Given the description of an element on the screen output the (x, y) to click on. 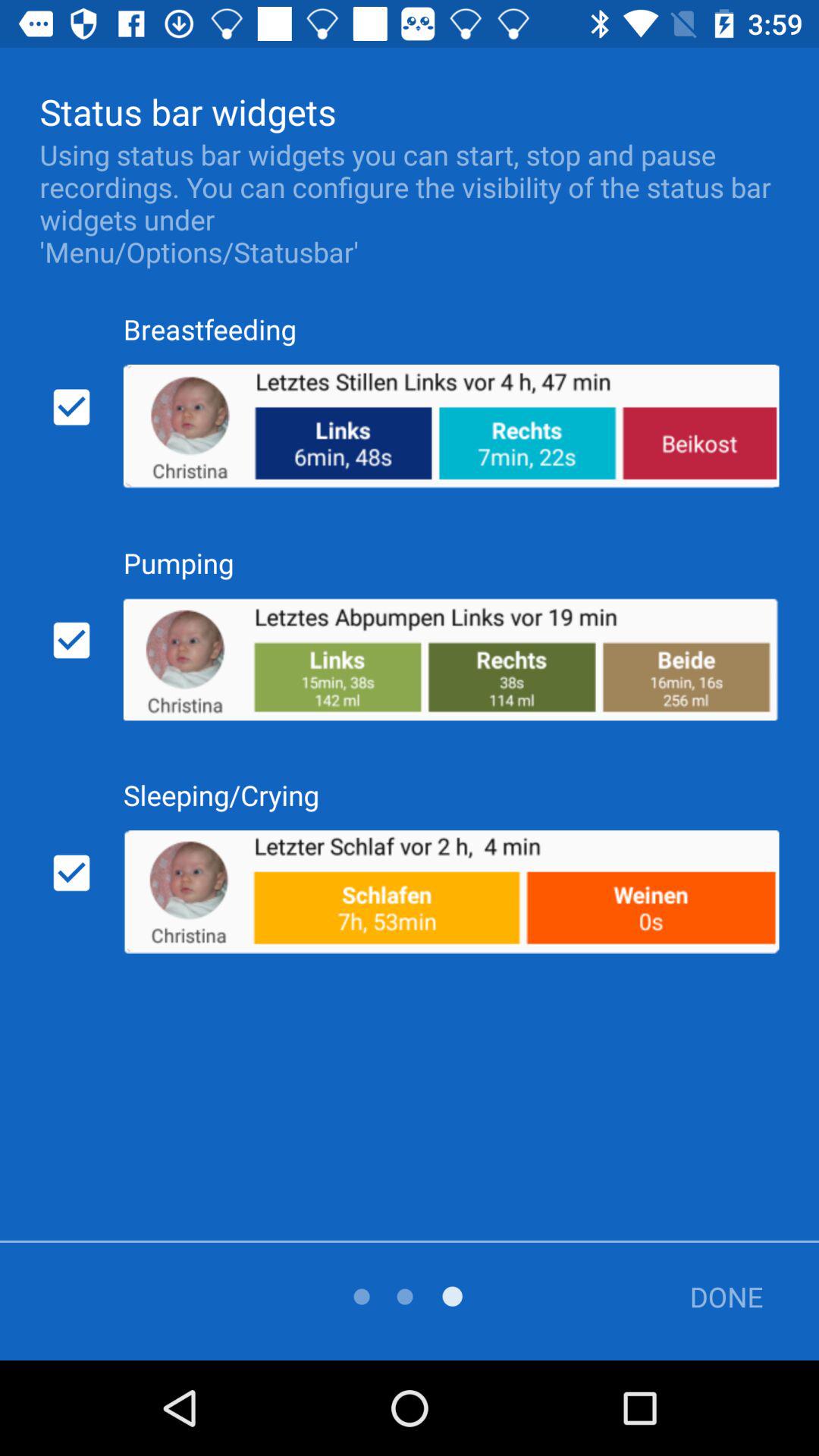
select checkbox (71, 872)
